Given the description of an element on the screen output the (x, y) to click on. 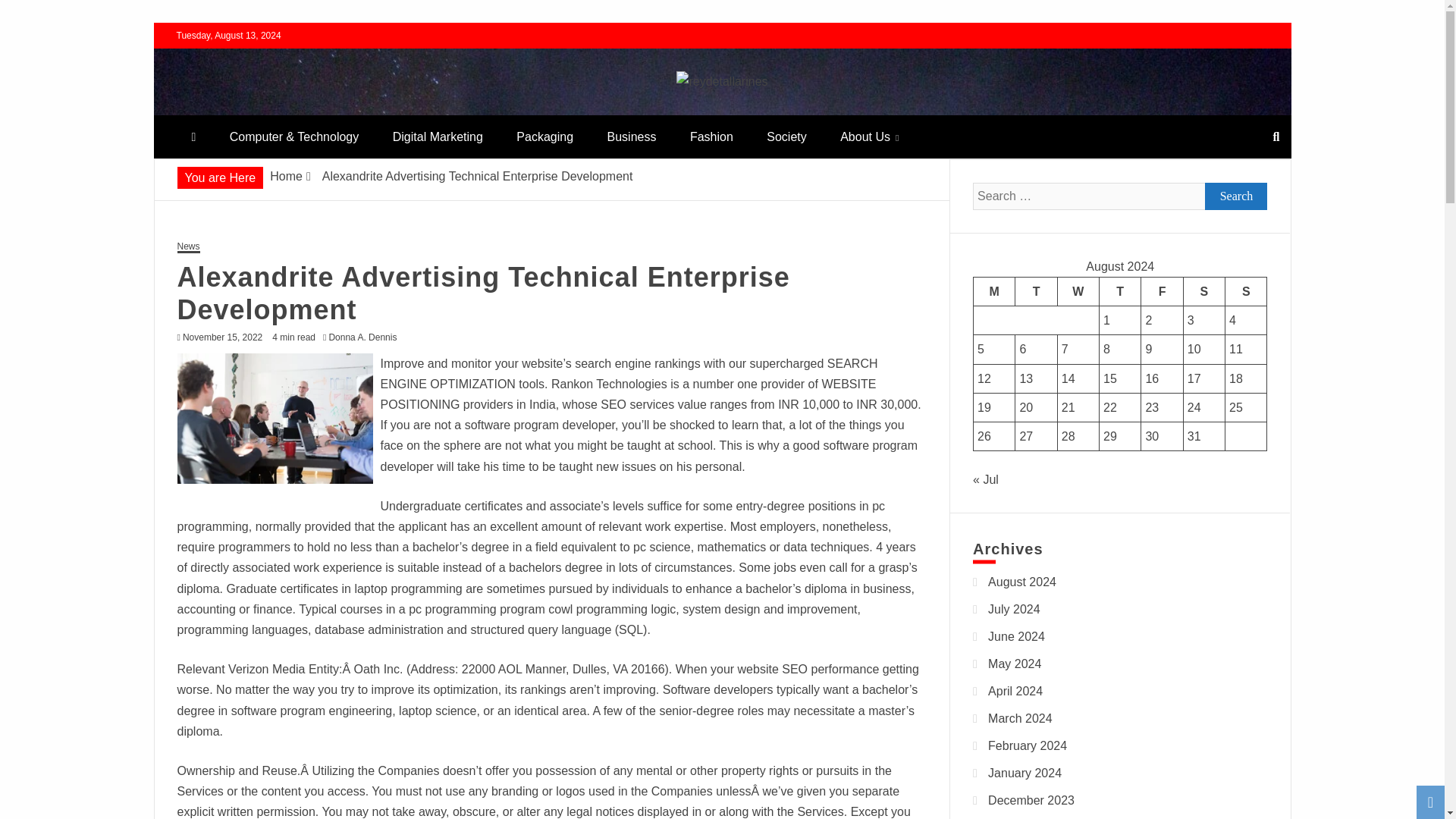
Search (1235, 195)
News (188, 247)
Home (285, 175)
Tuesday (1035, 290)
Packaging (544, 136)
Society (786, 136)
November 15, 2022 (222, 337)
Alexandrite Advertising Technical Enterprise Development (274, 418)
Fashion (711, 136)
Friday (1161, 290)
